Given the description of an element on the screen output the (x, y) to click on. 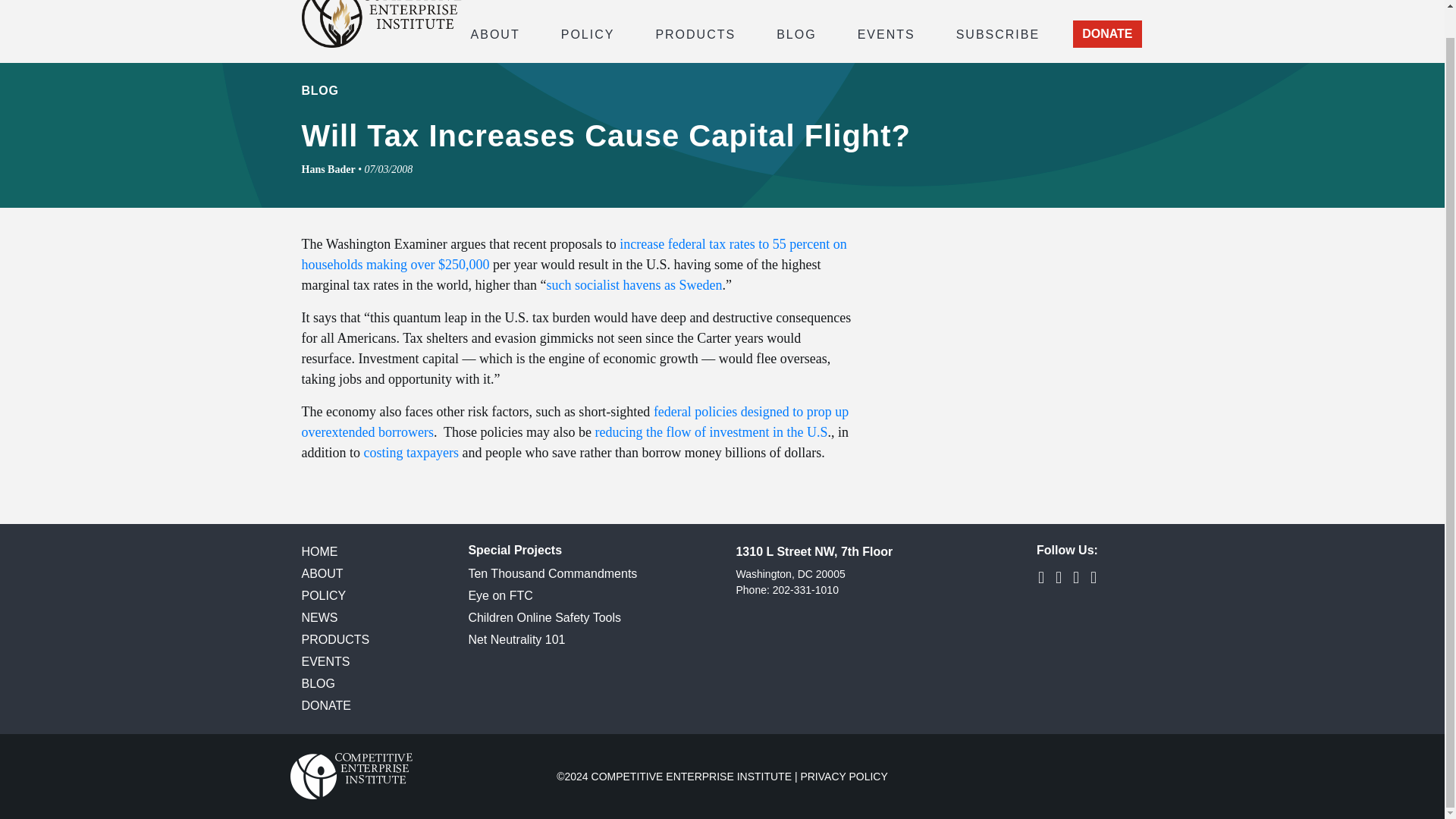
DONATE (1107, 33)
EVENTS (886, 33)
ABOUT (495, 33)
SUBSCRIBE (997, 33)
PRODUCTS (694, 33)
BLOG (796, 33)
